Given the description of an element on the screen output the (x, y) to click on. 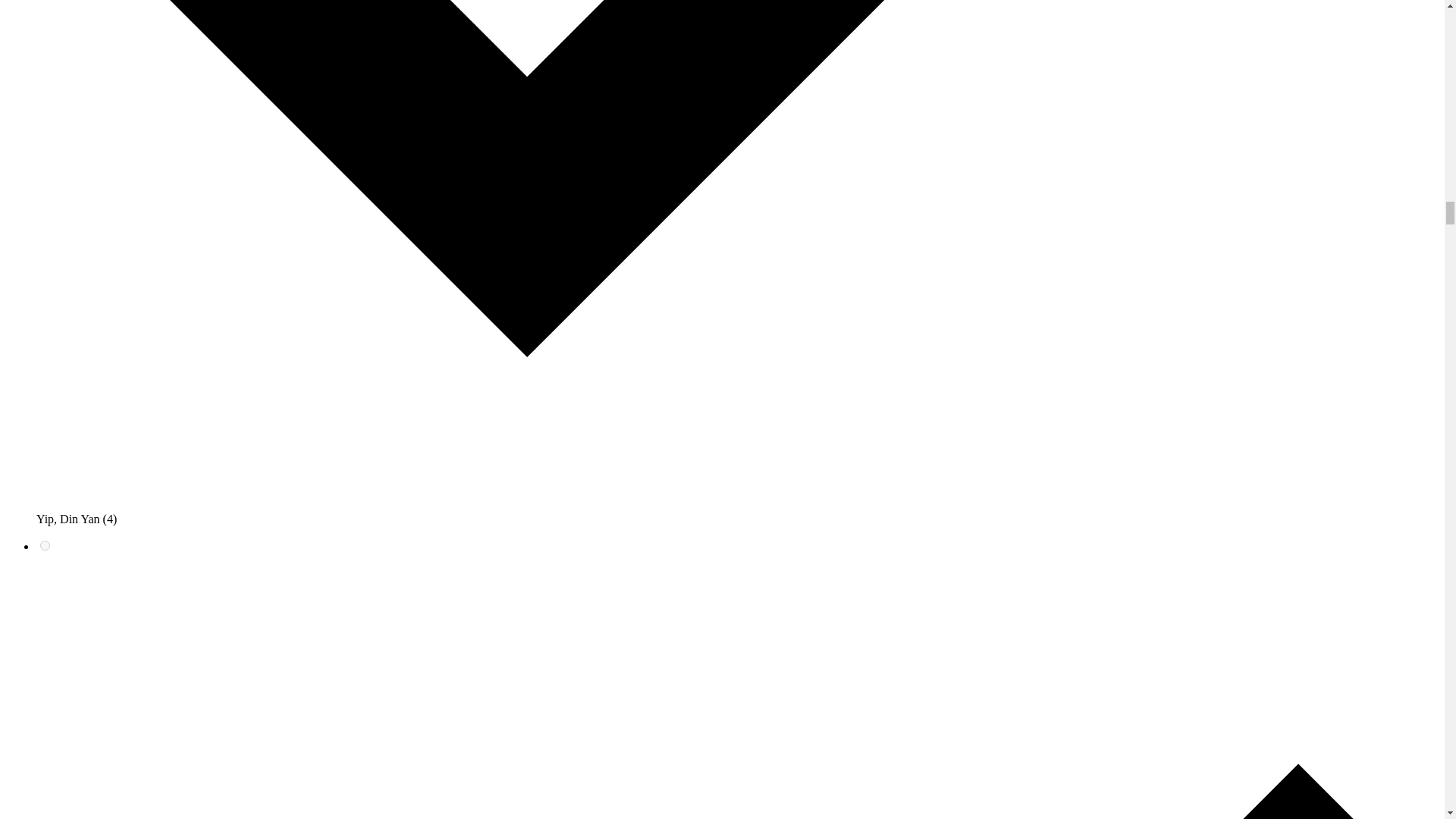
Lai, Edith (44, 545)
